Given the description of an element on the screen output the (x, y) to click on. 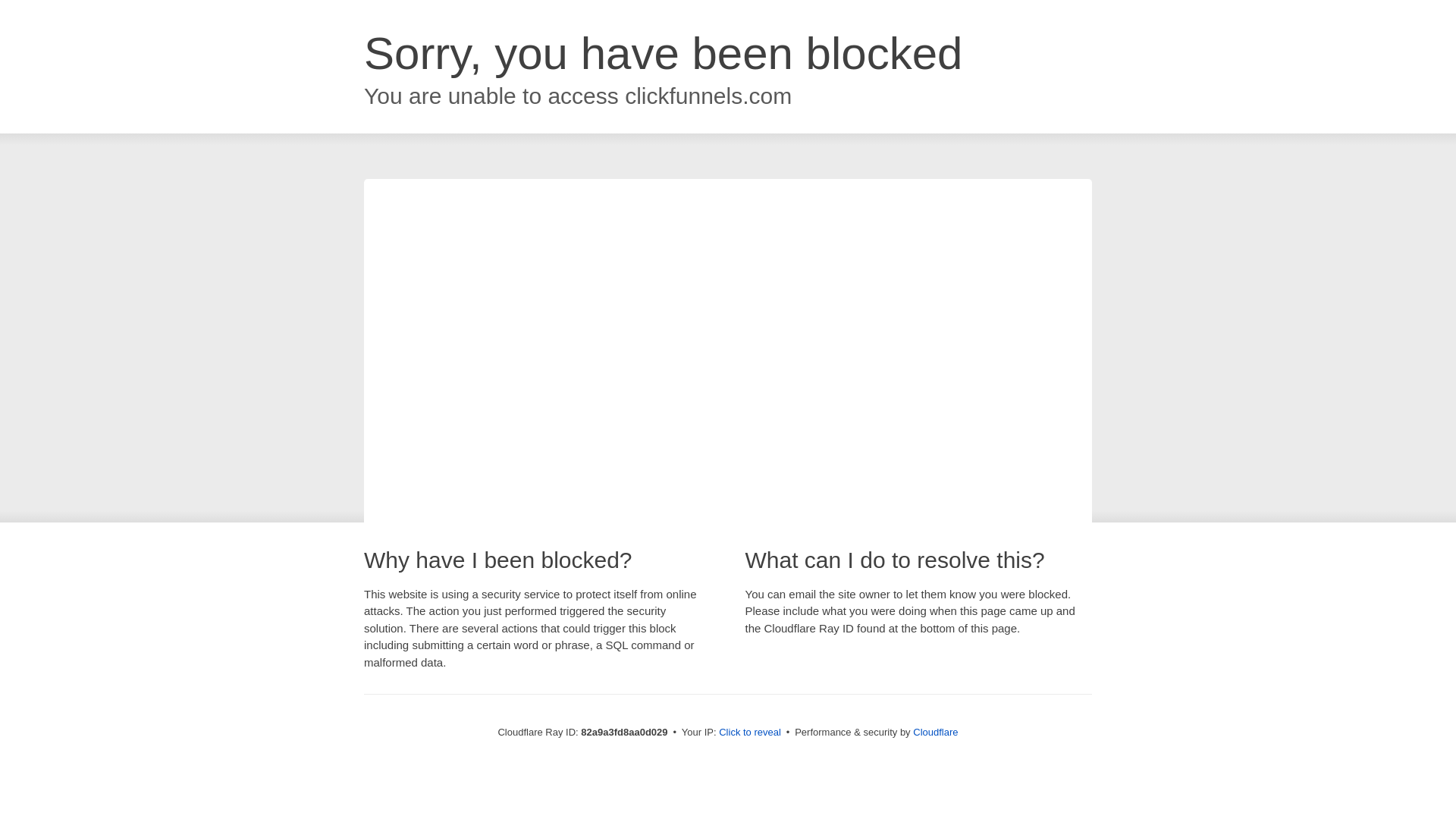
Click to reveal Element type: text (749, 732)
Cloudflare Element type: text (935, 731)
